Given the description of an element on the screen output the (x, y) to click on. 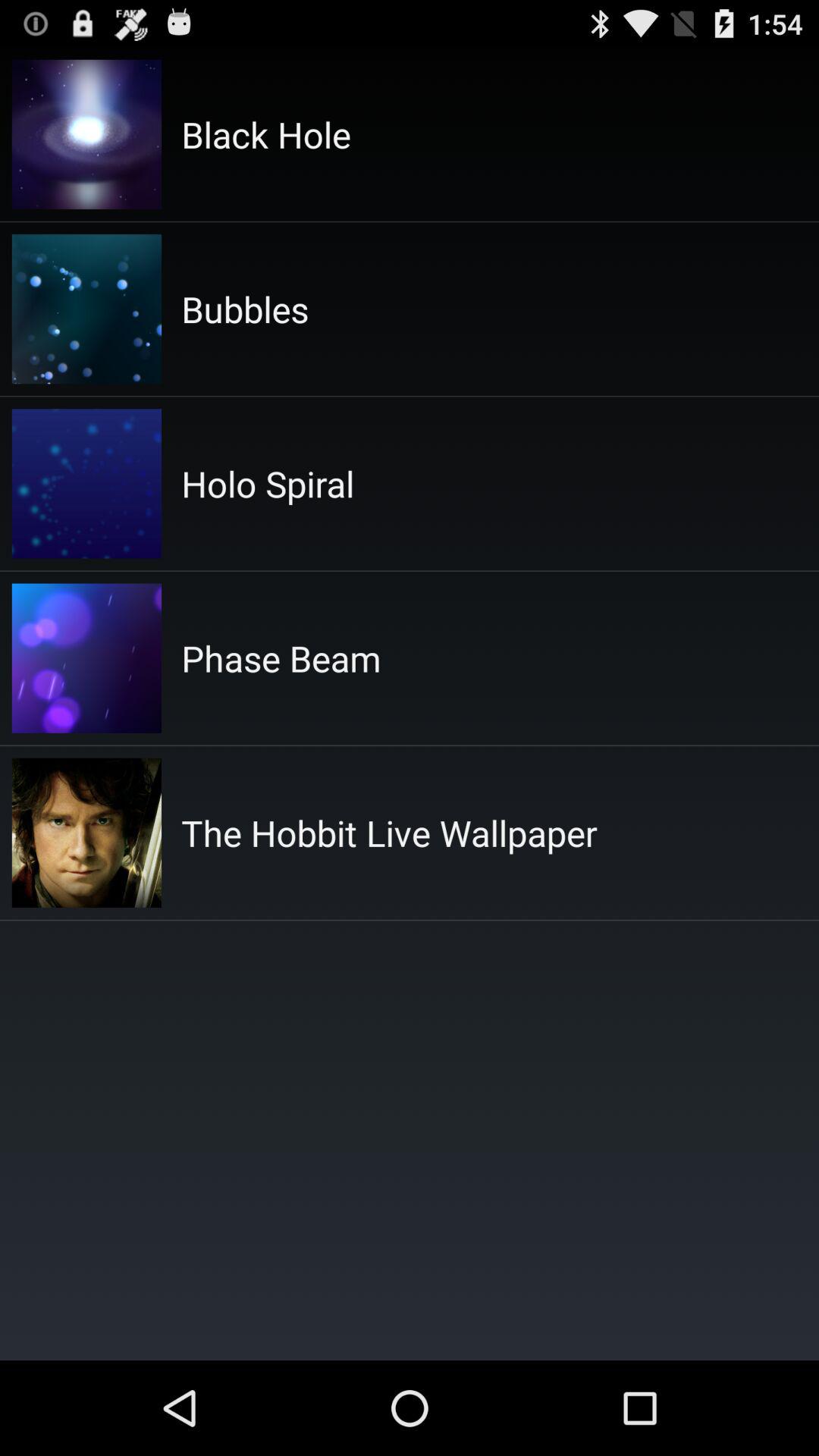
launch holo spiral app (267, 483)
